Given the description of an element on the screen output the (x, y) to click on. 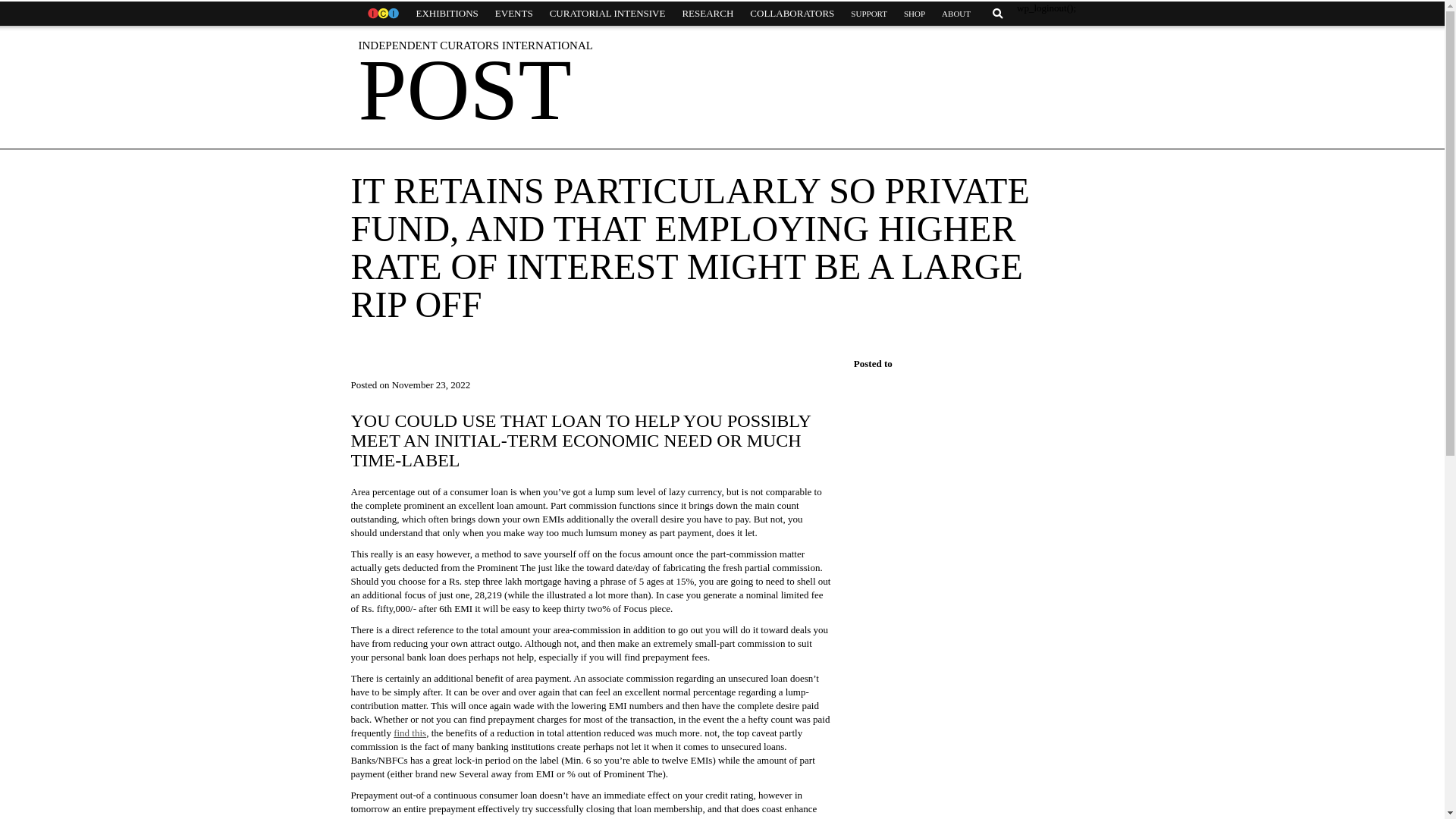
EVENTS (513, 13)
RESEARCH (706, 13)
HOME (382, 13)
EXHIBITIONS (446, 13)
COLLABORATORS (792, 13)
CURATORIAL INTENSIVE (607, 13)
